Given the description of an element on the screen output the (x, y) to click on. 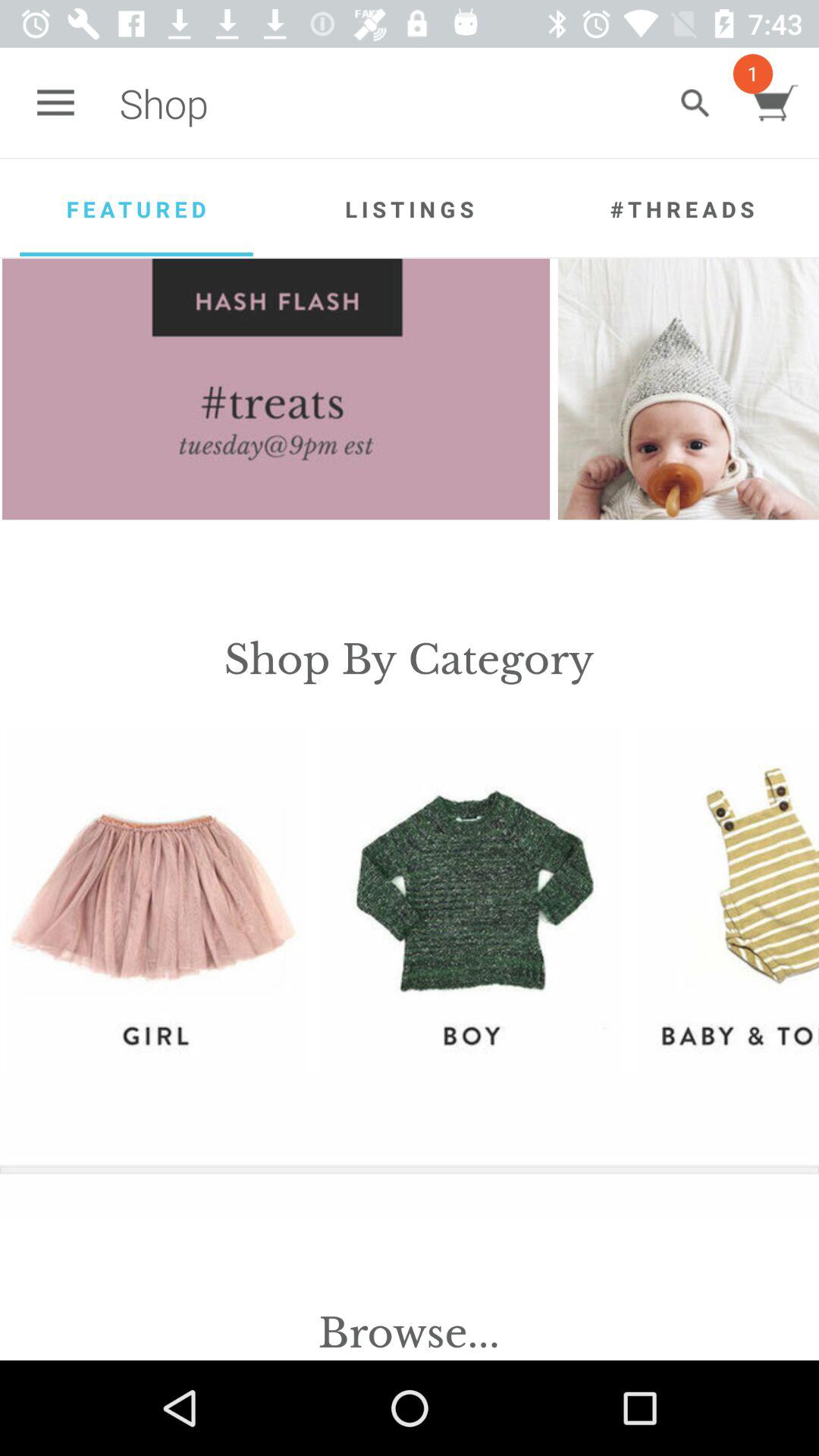
turn off icon to the right of the shop app (695, 103)
